Given the description of an element on the screen output the (x, y) to click on. 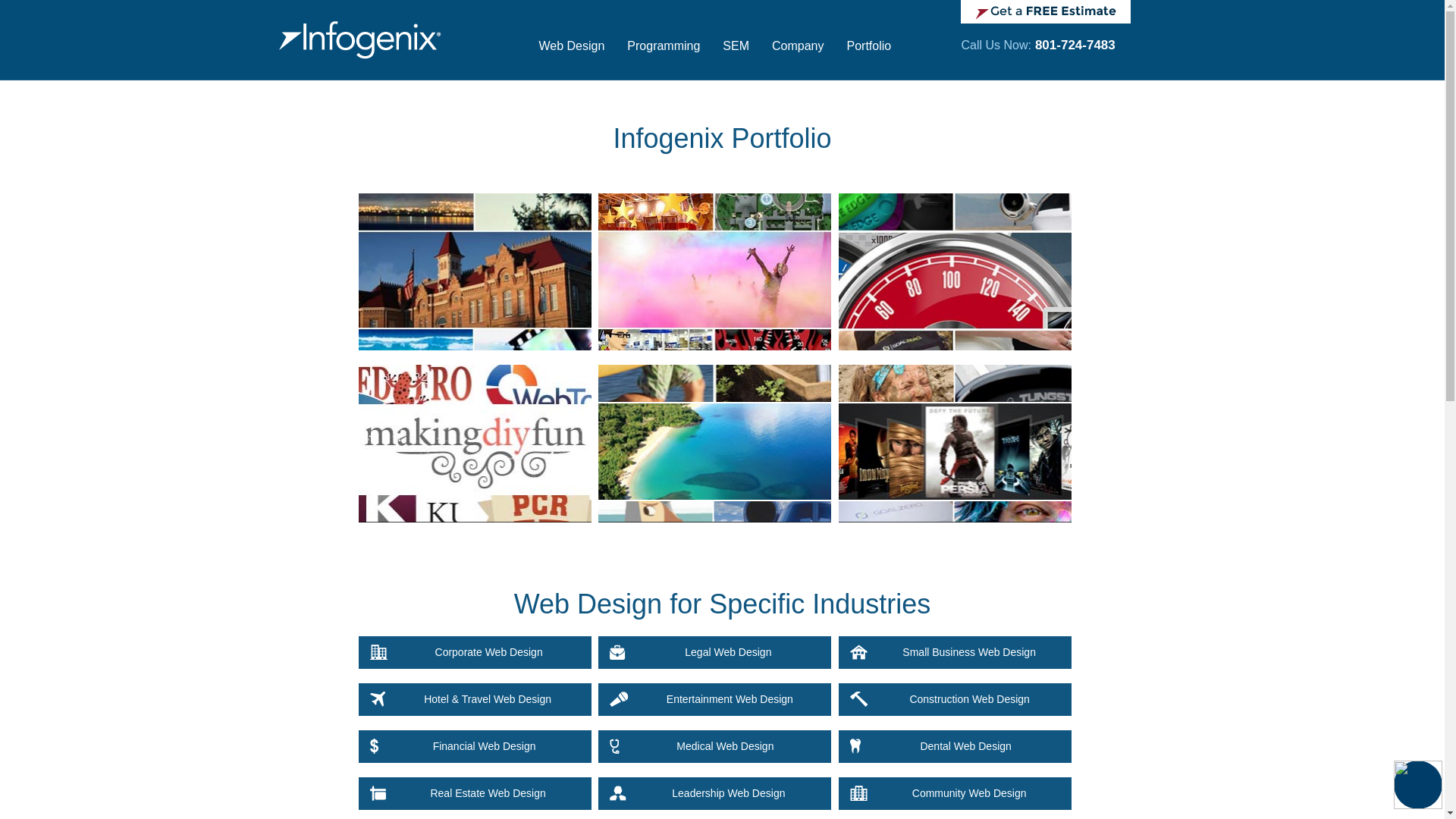
Company (797, 53)
Web Design (571, 53)
SEM (735, 53)
Accessibility Menu (1417, 784)
Portfolio (868, 53)
Programming (663, 53)
